Given the description of an element on the screen output the (x, y) to click on. 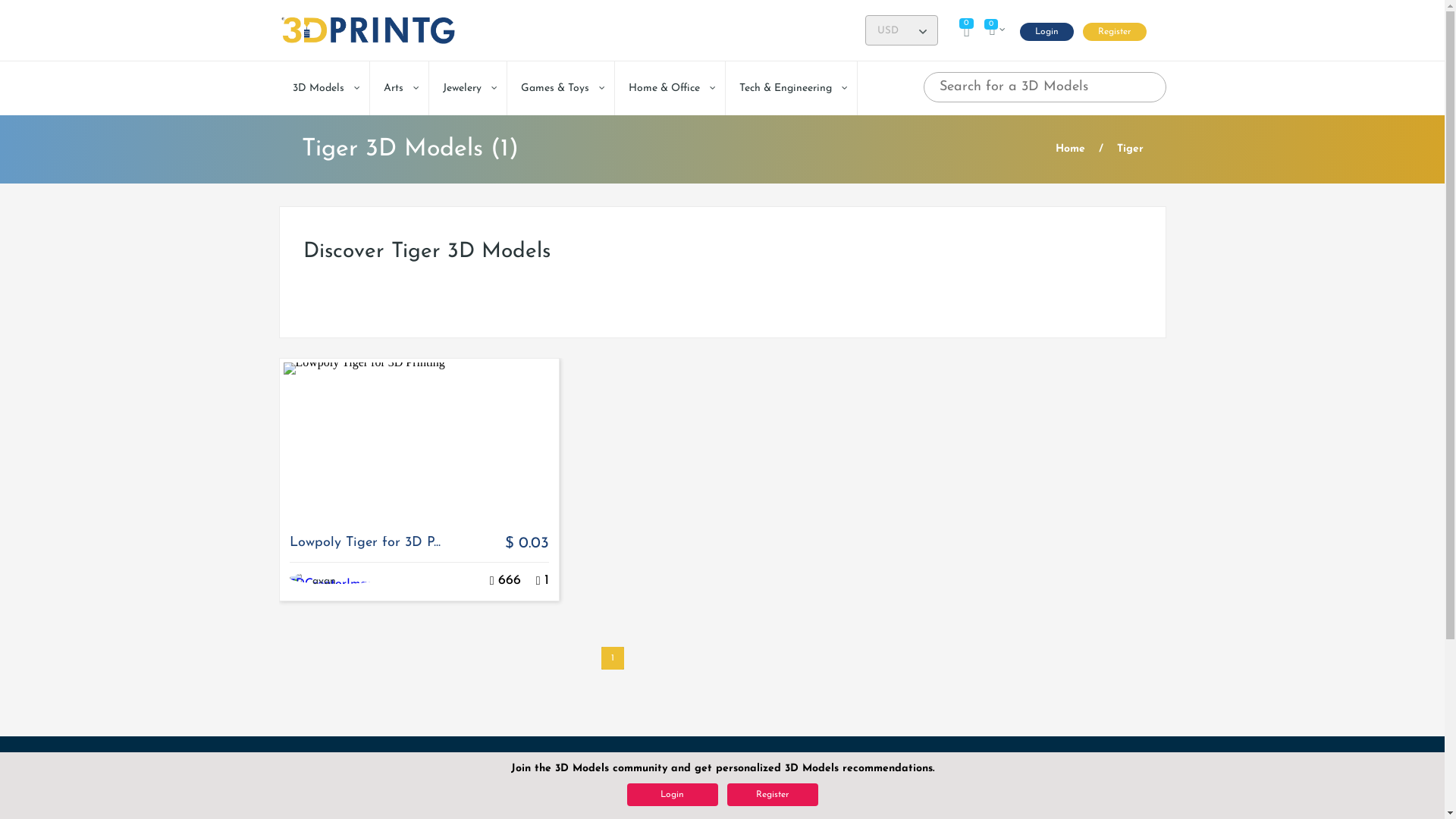
3D Creator Image Element type: hover (299, 581)
Arts Element type: text (399, 88)
Jewelery Element type: text (467, 88)
Download Element type: hover (538, 580)
Lowpoly Tiger for 3D Printing Element type: hover (419, 439)
Login Element type: text (671, 794)
Register Element type: text (771, 794)
Register Element type: text (1114, 31)
views Element type: hover (491, 580)
1 Element type: text (611, 657)
Home & Office Element type: text (669, 88)
Tech & Engineering Element type: text (790, 88)
Login Element type: text (1046, 31)
avan Element type: text (323, 580)
3D Models Element type: text (324, 88)
Games & Toys Element type: text (559, 88)
